Given the description of an element on the screen output the (x, y) to click on. 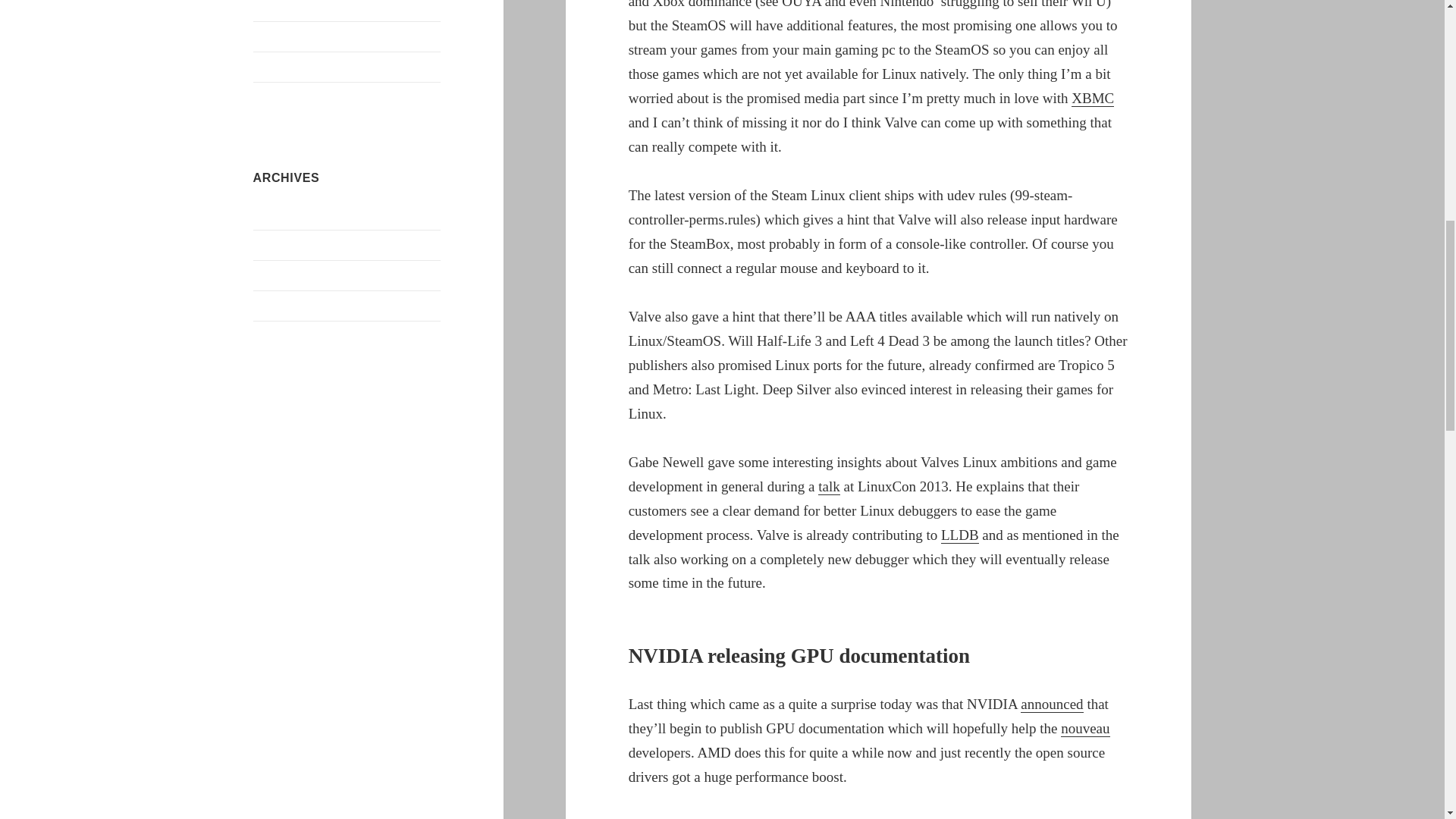
Miscellaneous (288, 36)
June 2010 (277, 335)
September 2013 (292, 274)
Linux (267, 6)
August 2010 (284, 305)
LLDB Debugger (959, 535)
XBMC (1092, 98)
Windows (276, 97)
October 2023 (286, 214)
Security (273, 66)
